Given the description of an element on the screen output the (x, y) to click on. 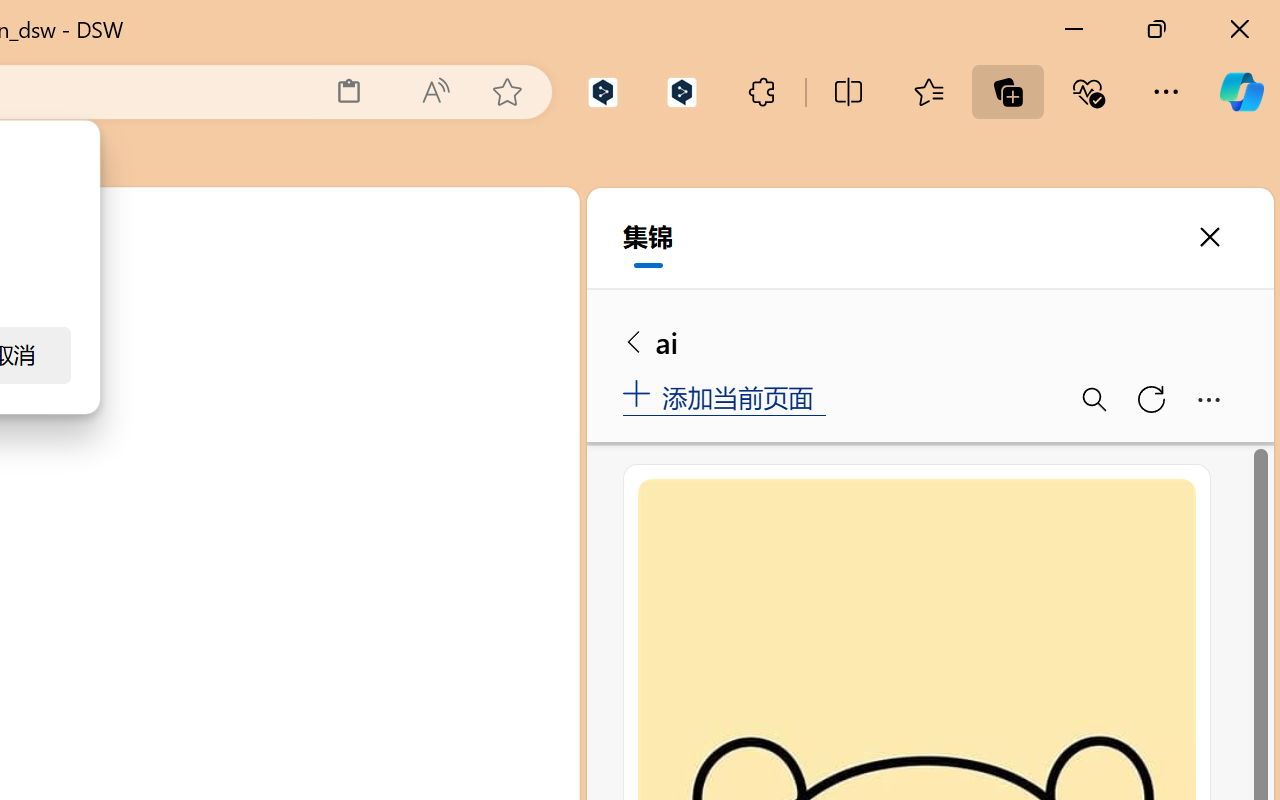
Close Panel (535, 357)
